Given the description of an element on the screen output the (x, y) to click on. 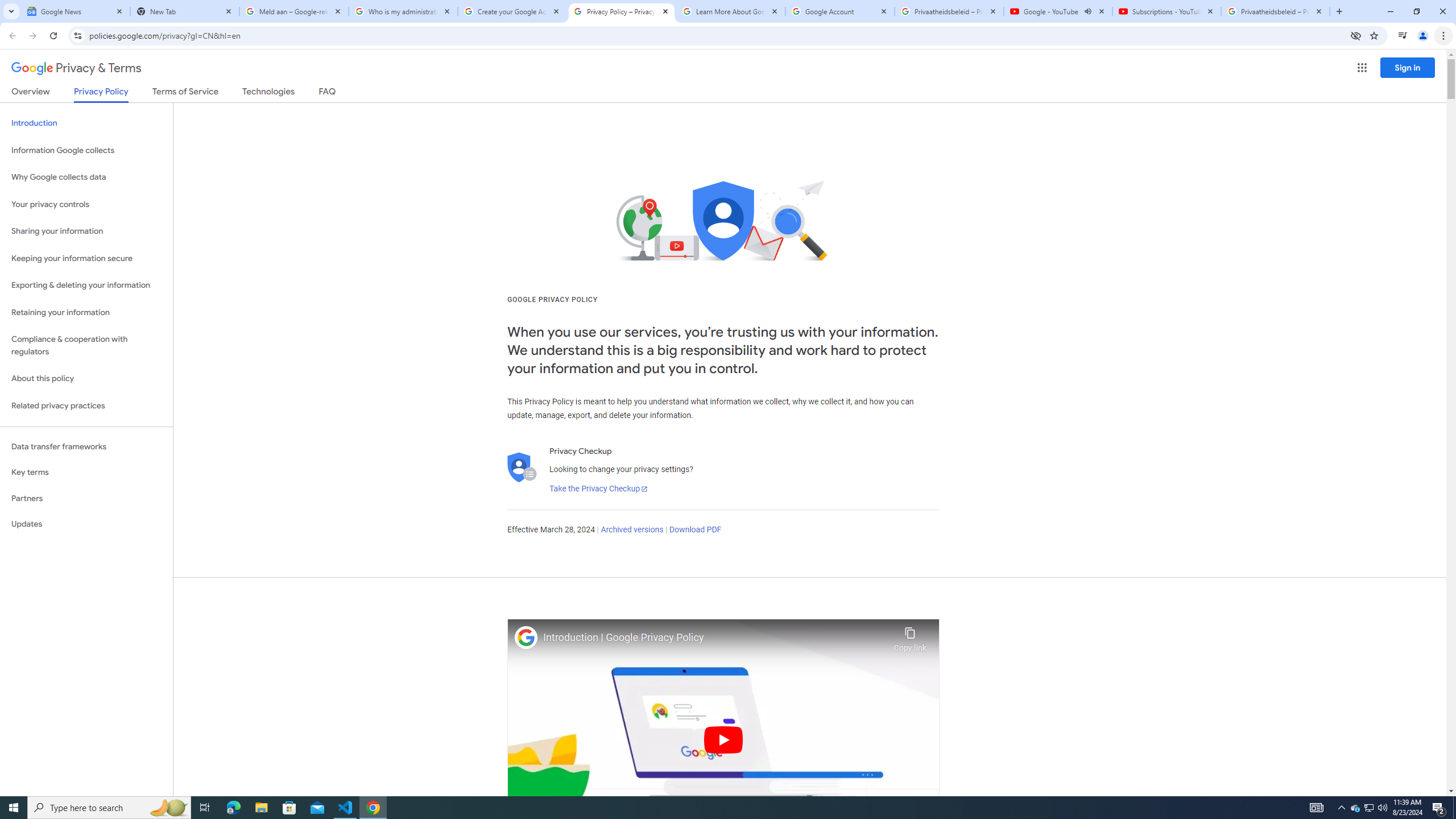
Your privacy controls (86, 204)
Take the Privacy Checkup (597, 488)
Photo image of Google (526, 636)
Retaining your information (86, 312)
Data transfer frameworks (86, 446)
Key terms (86, 472)
Mute tab (1087, 10)
Google - YouTube - Audio playing (1058, 11)
